Given the description of an element on the screen output the (x, y) to click on. 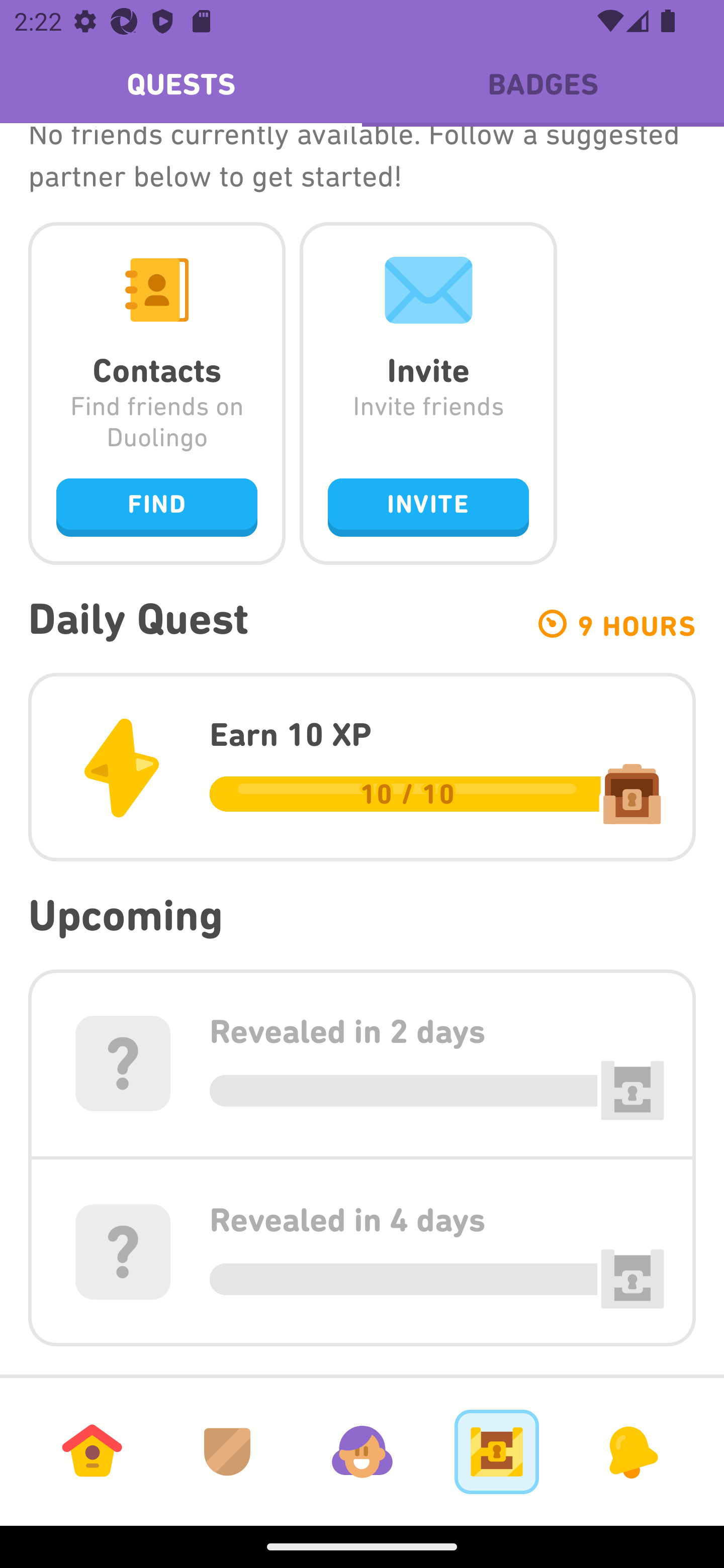
BADGES (543, 84)
FIND (156, 507)
INVITE (428, 507)
Learn Tab (91, 1451)
Leagues Tab (227, 1451)
Profile Tab (361, 1451)
Goals Tab (496, 1451)
News Tab (631, 1451)
